Given the description of an element on the screen output the (x, y) to click on. 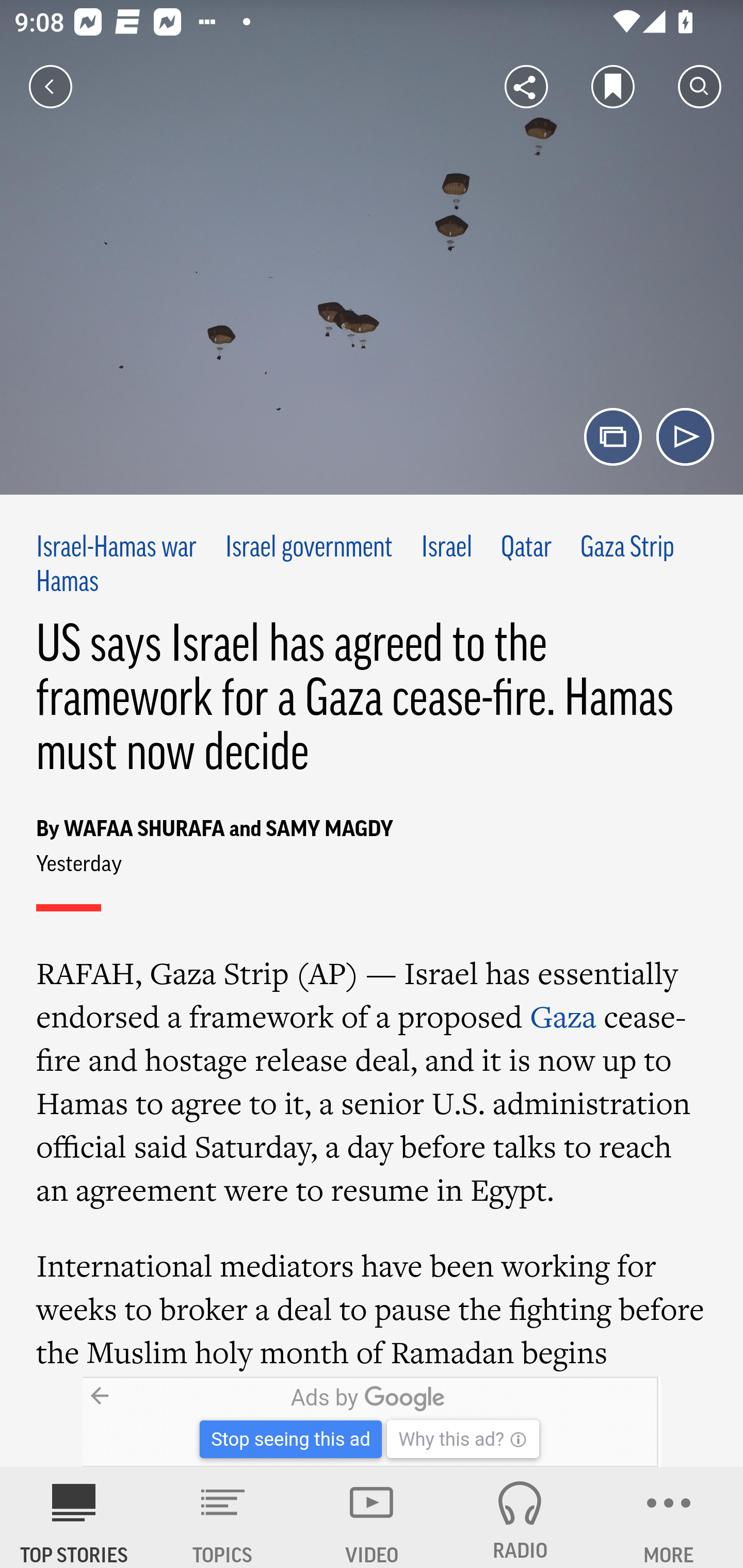
Israel-Hamas war (117, 548)
Israel government (308, 548)
Israel (446, 548)
Qatar (526, 548)
Gaza Strip (627, 548)
Hamas (67, 582)
Gaza (563, 1016)
AP News TOP STORIES (74, 1517)
TOPICS (222, 1517)
VIDEO (371, 1517)
RADIO (519, 1517)
MORE (668, 1517)
